Given the description of an element on the screen output the (x, y) to click on. 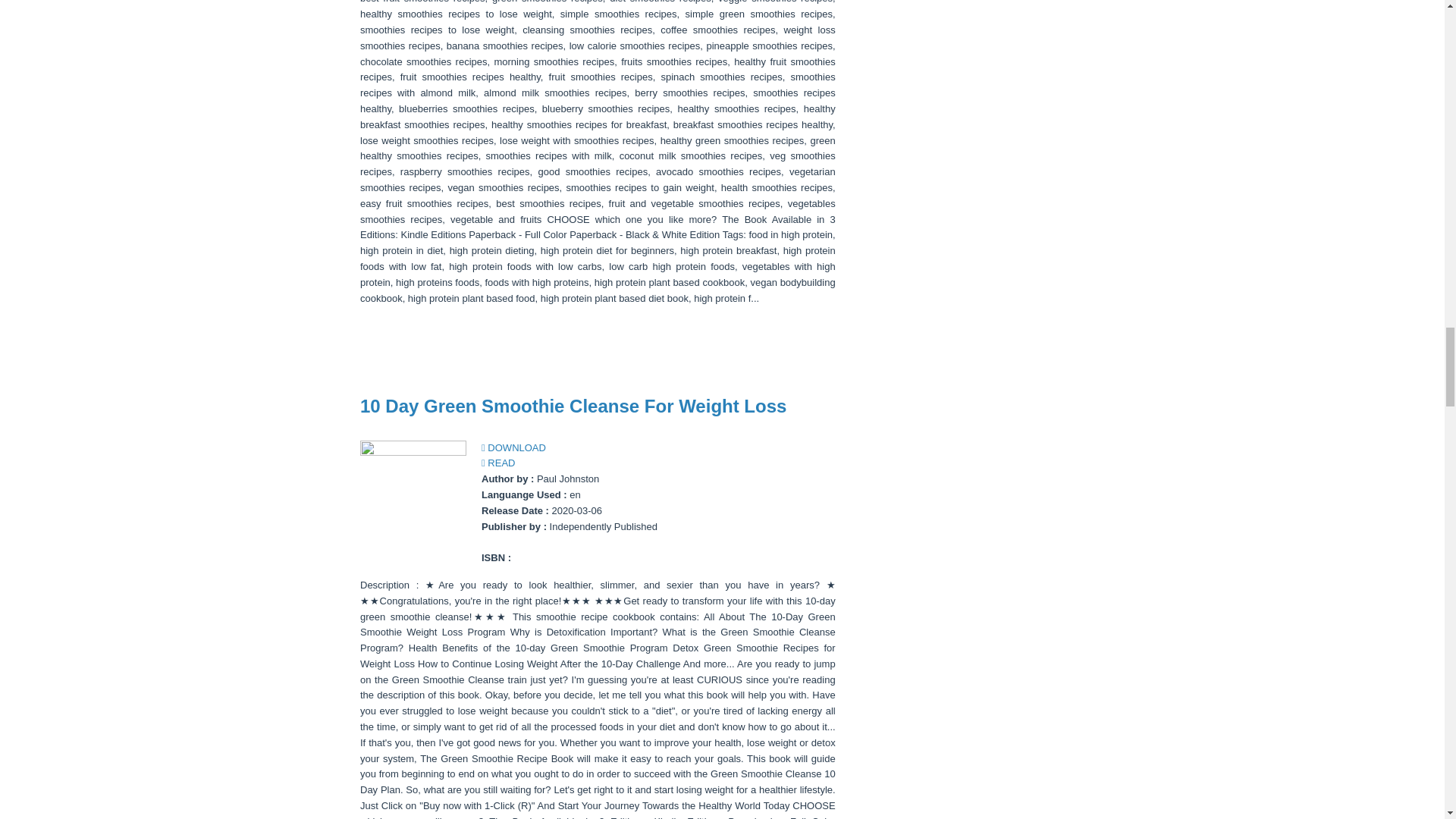
READ (498, 462)
10 Day Green Smoothie Cleanse For Weight Loss (572, 405)
10 Day Green Smoothie Cleanse For Weight Loss (572, 405)
DOWNLOAD (513, 447)
